Given the description of an element on the screen output the (x, y) to click on. 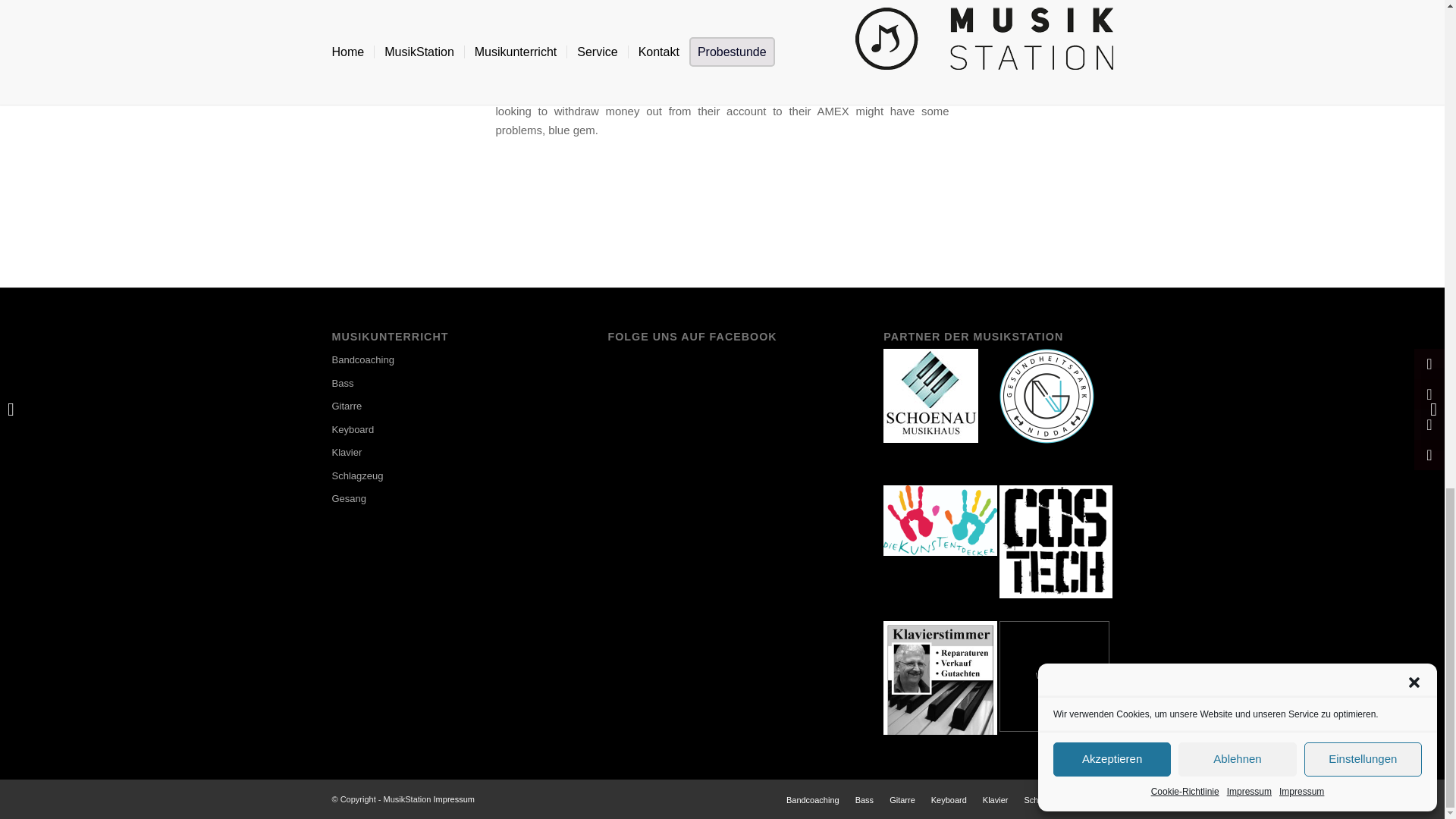
Partner der MusikStation (930, 395)
Partner der MusikStation (1046, 395)
